Given the description of an element on the screen output the (x, y) to click on. 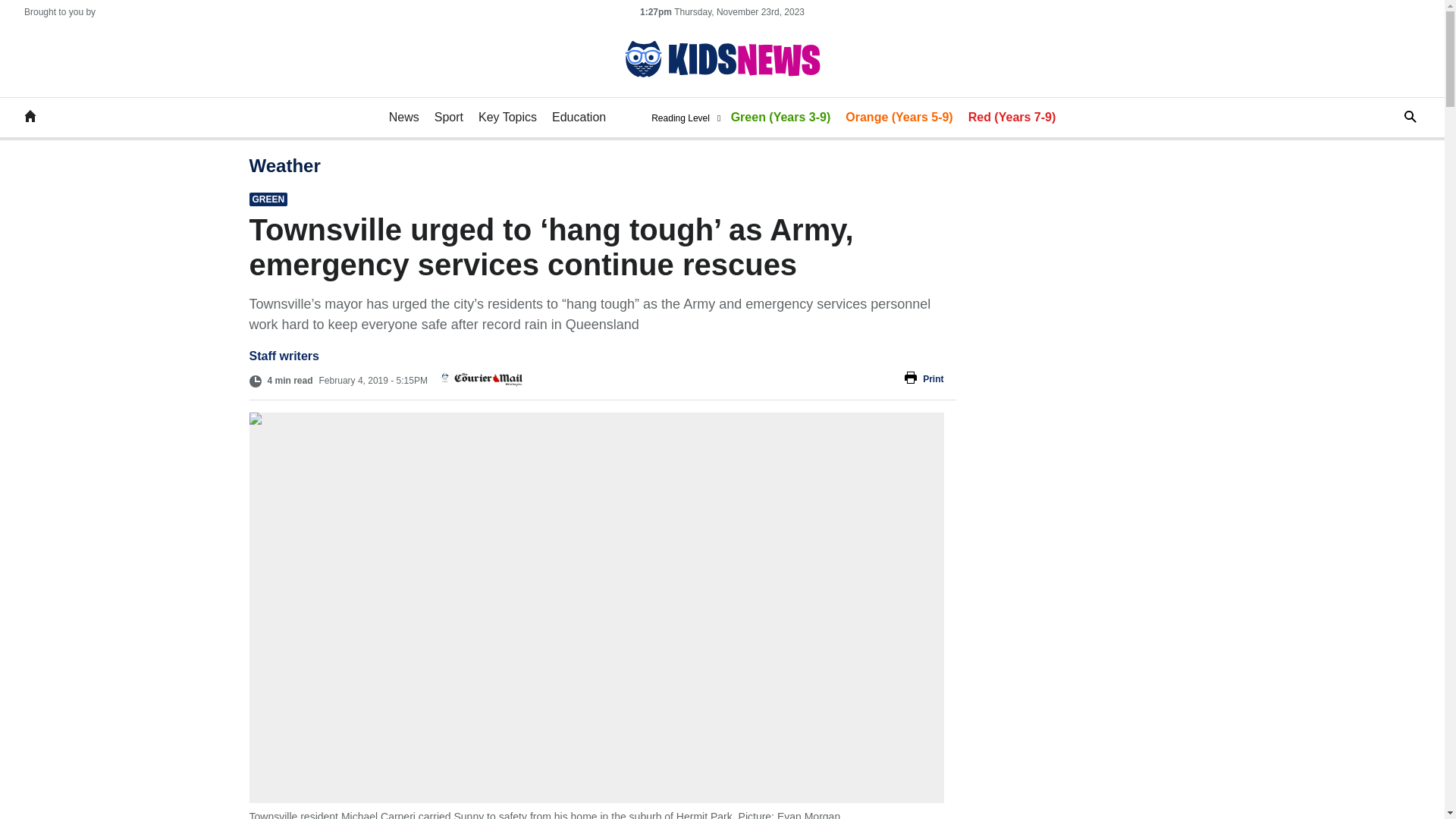
Print Element type: text (733, 379)
Key Topics Element type: text (507, 117)
KidsNews Element type: hover (30, 117)
News Element type: text (403, 117)
Search Element type: hover (1397, 116)
Green (Years 3-9) Element type: text (780, 117)
KidsNews Element type: hover (721, 58)
Orange (Years 5-9) Element type: text (898, 117)
Red (Years 7-9) Element type: text (1011, 117)
Weather Element type: text (284, 165)
Sport Element type: text (448, 117)
Education Element type: text (578, 117)
